Given the description of an element on the screen output the (x, y) to click on. 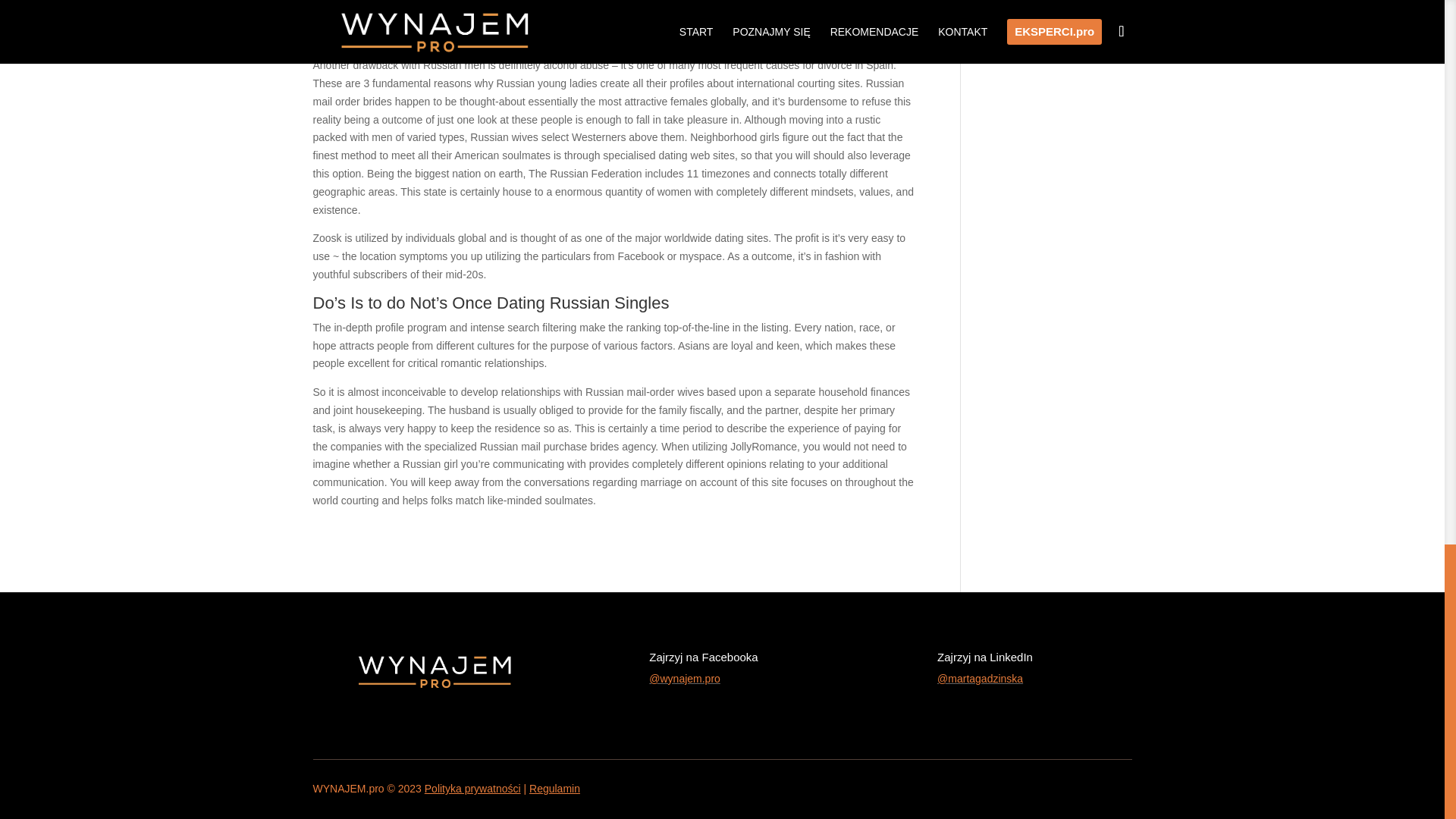
wynajem-pro (433, 668)
Zajrzyj na LinkedIn (984, 656)
Regulamin (554, 788)
